Given the description of an element on the screen output the (x, y) to click on. 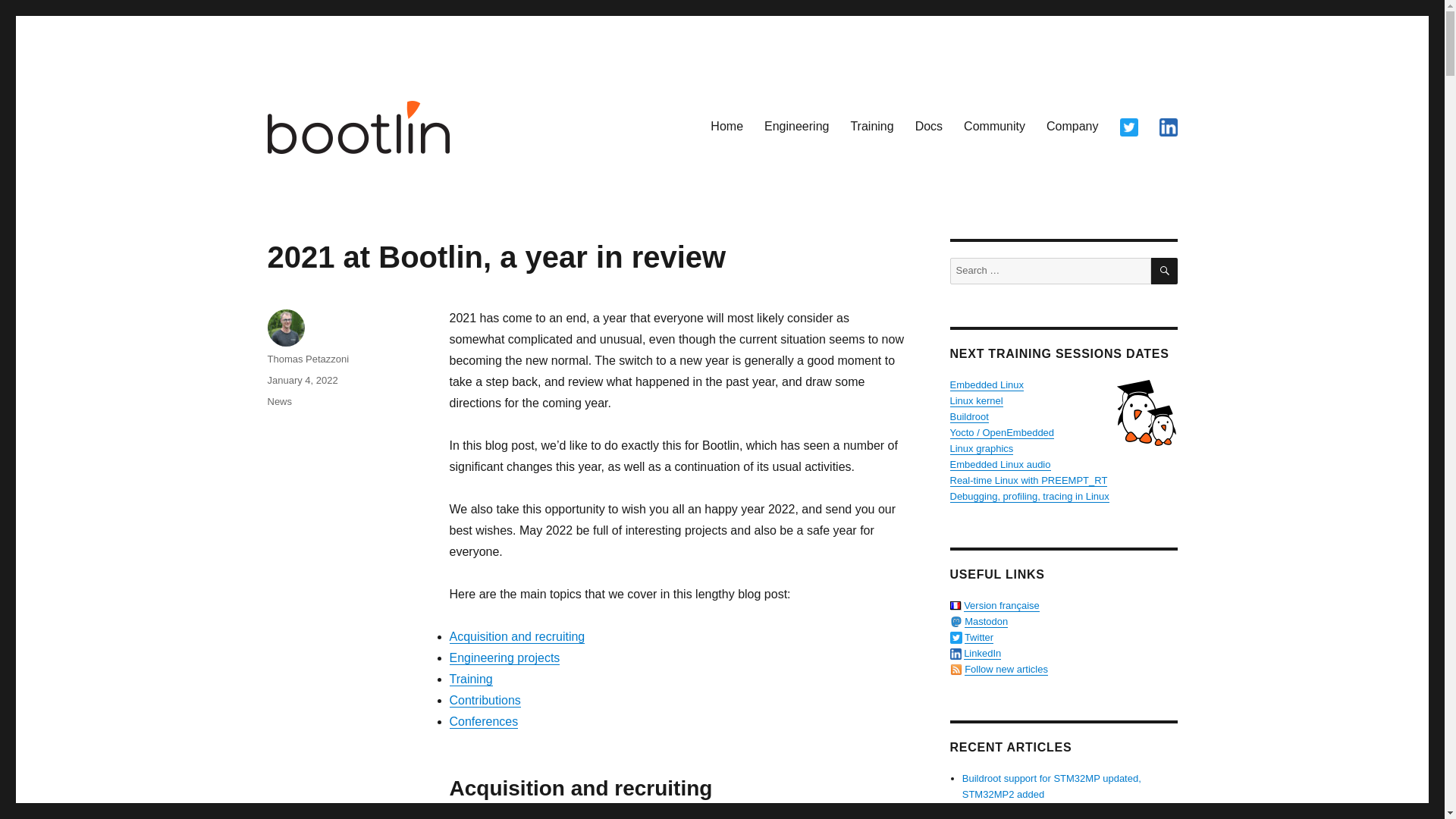
Training (470, 678)
Conferences (483, 721)
Community (994, 126)
Engineering projects (503, 657)
Acquisition and recruiting (516, 635)
Docs (928, 126)
Home (727, 126)
Training (872, 126)
Contributions (483, 699)
Company (1071, 126)
